Given the description of an element on the screen output the (x, y) to click on. 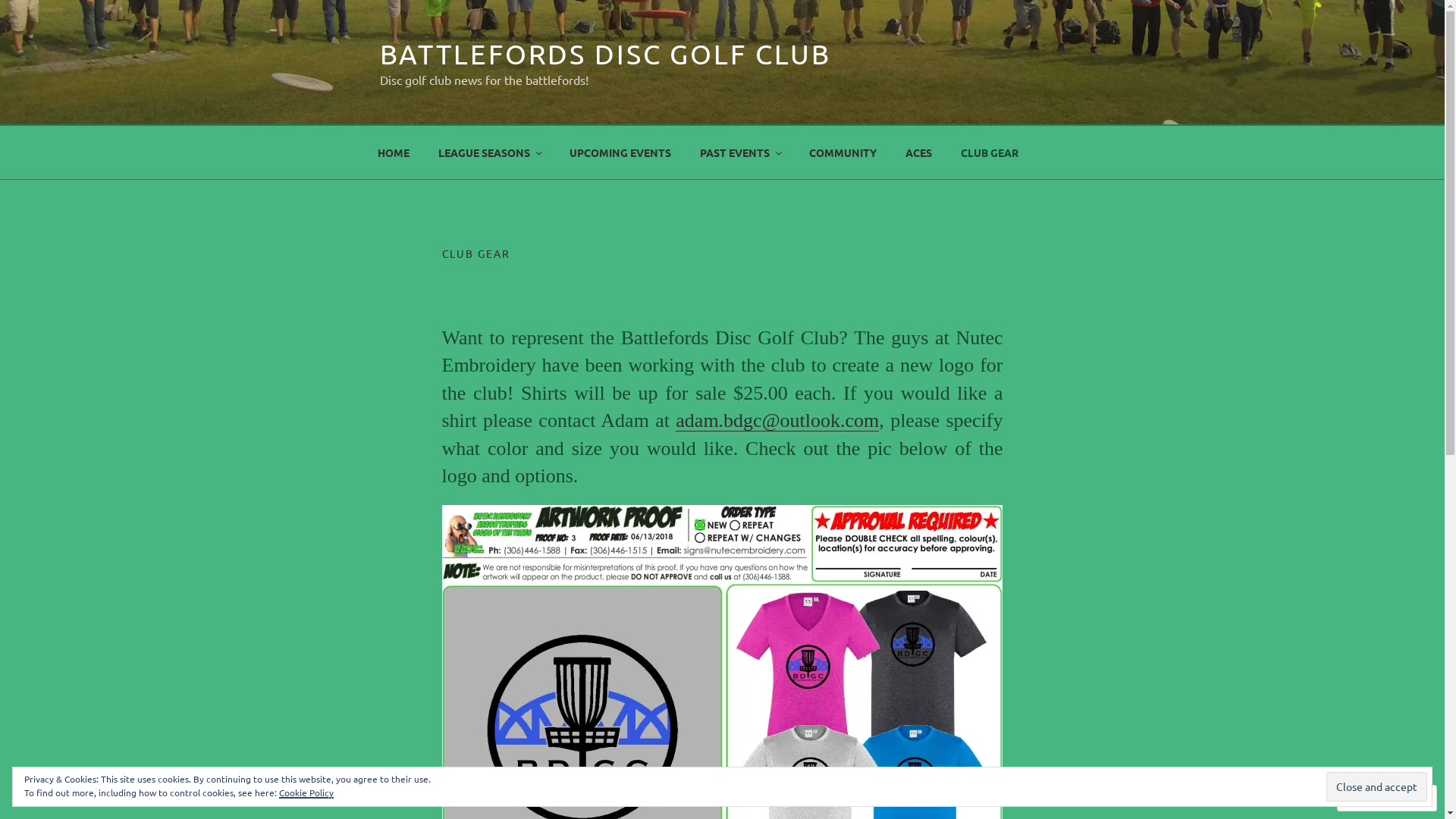
UPCOMING EVENTS Element type: text (620, 151)
HOME Element type: text (393, 151)
PAST EVENTS Element type: text (740, 151)
CLUB GEAR Element type: text (989, 151)
COMMUNITY Element type: text (843, 151)
Cookie Policy Element type: text (306, 792)
LEAGUE SEASONS Element type: text (488, 151)
BATTLEFORDS DISC GOLF CLUB Element type: text (604, 53)
adam.bdgc@outlook.com Element type: text (776, 420)
ACES Element type: text (917, 151)
Close and accept Element type: text (1376, 786)
Follow Element type: text (1372, 797)
